Given the description of an element on the screen output the (x, y) to click on. 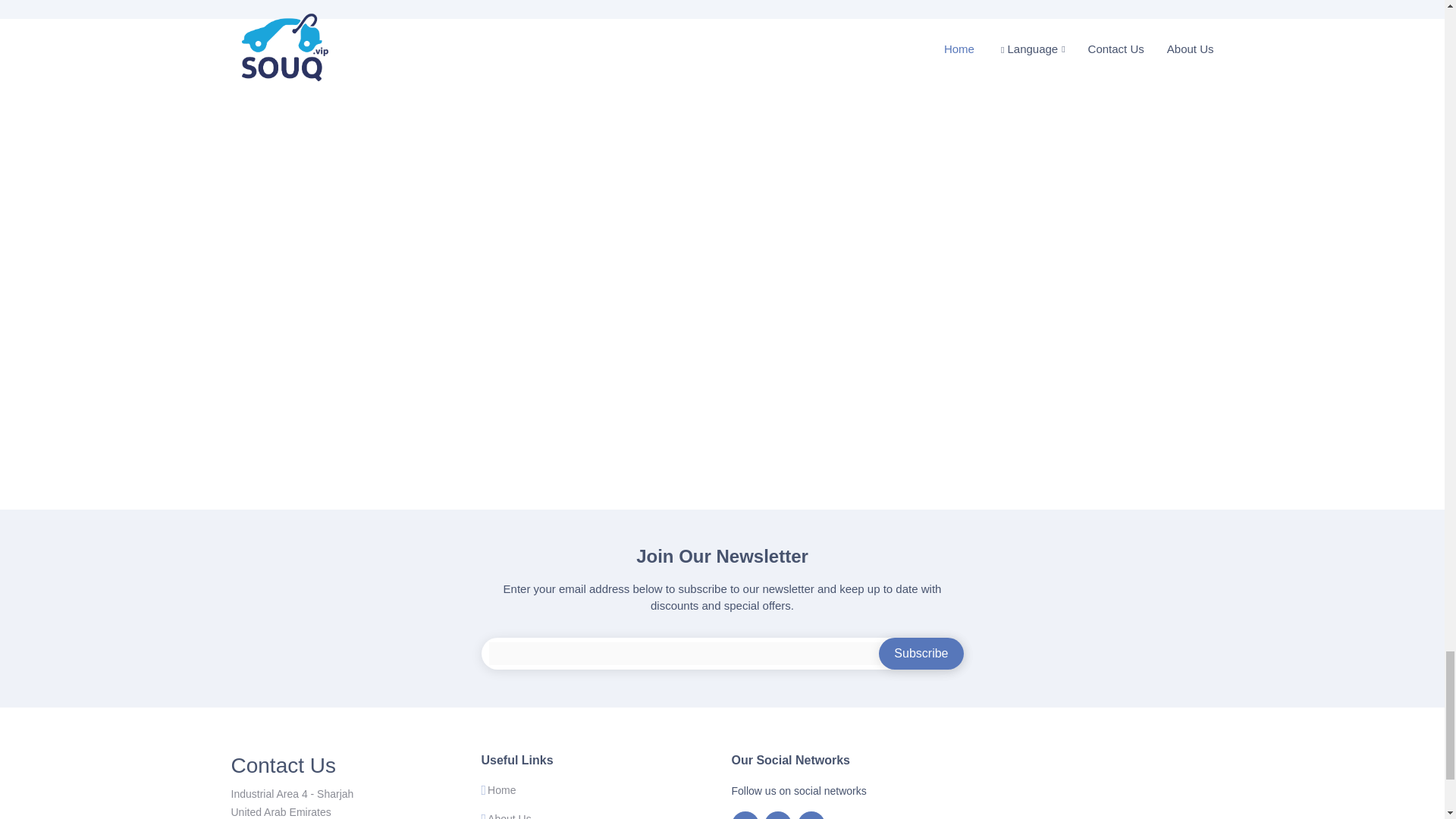
Home (501, 789)
About Us (509, 816)
Subscribe (920, 654)
Subscribe (920, 654)
